Given the description of an element on the screen output the (x, y) to click on. 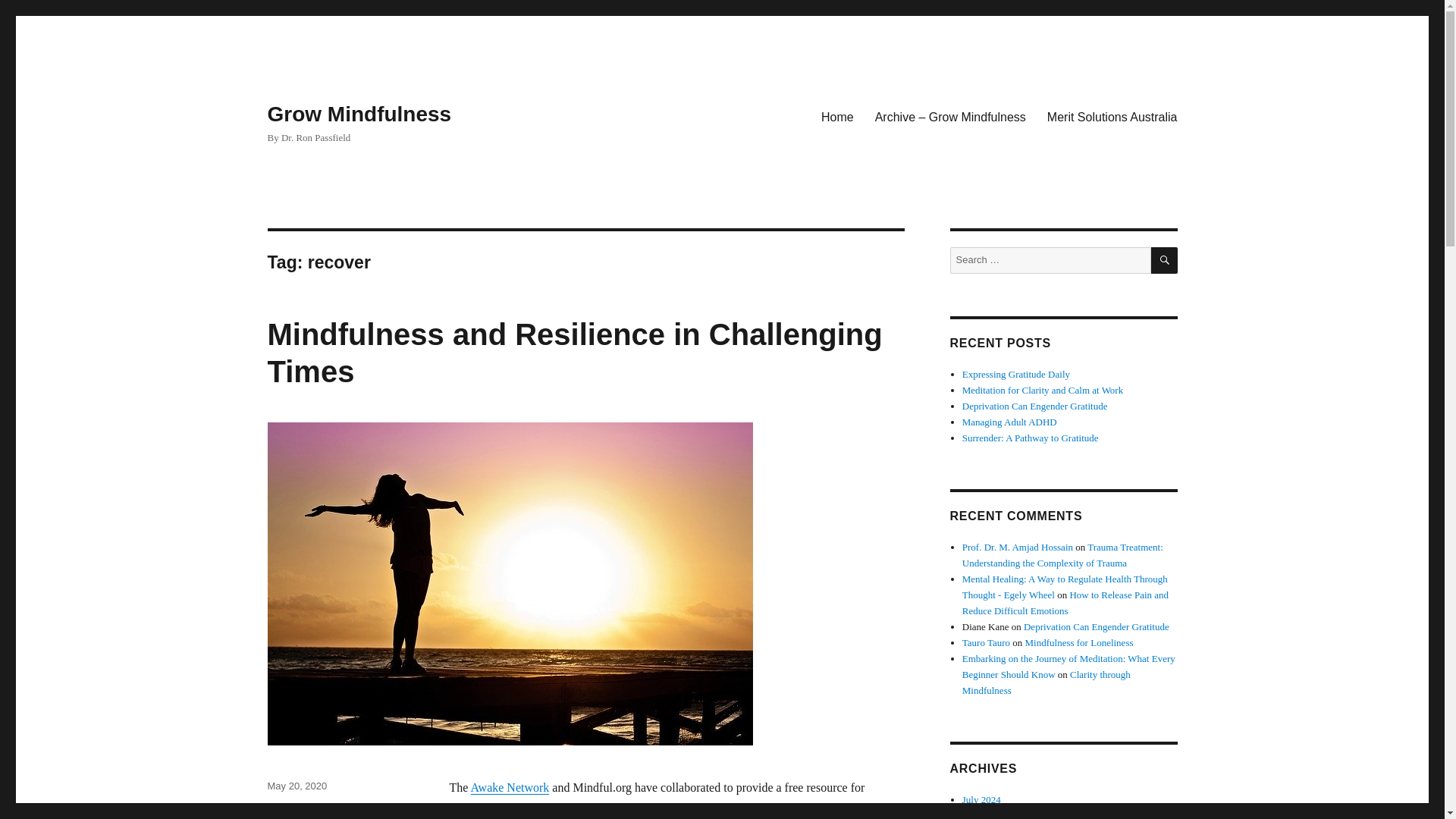
Awake Network (509, 787)
Mindfulness and Resilience in Challenging Times (574, 352)
May 20, 2020 (296, 785)
Grow Mindfulness (358, 114)
Merit Solutions Australia (1112, 116)
Home (837, 116)
Mental Health (296, 807)
